Given the description of an element on the screen output the (x, y) to click on. 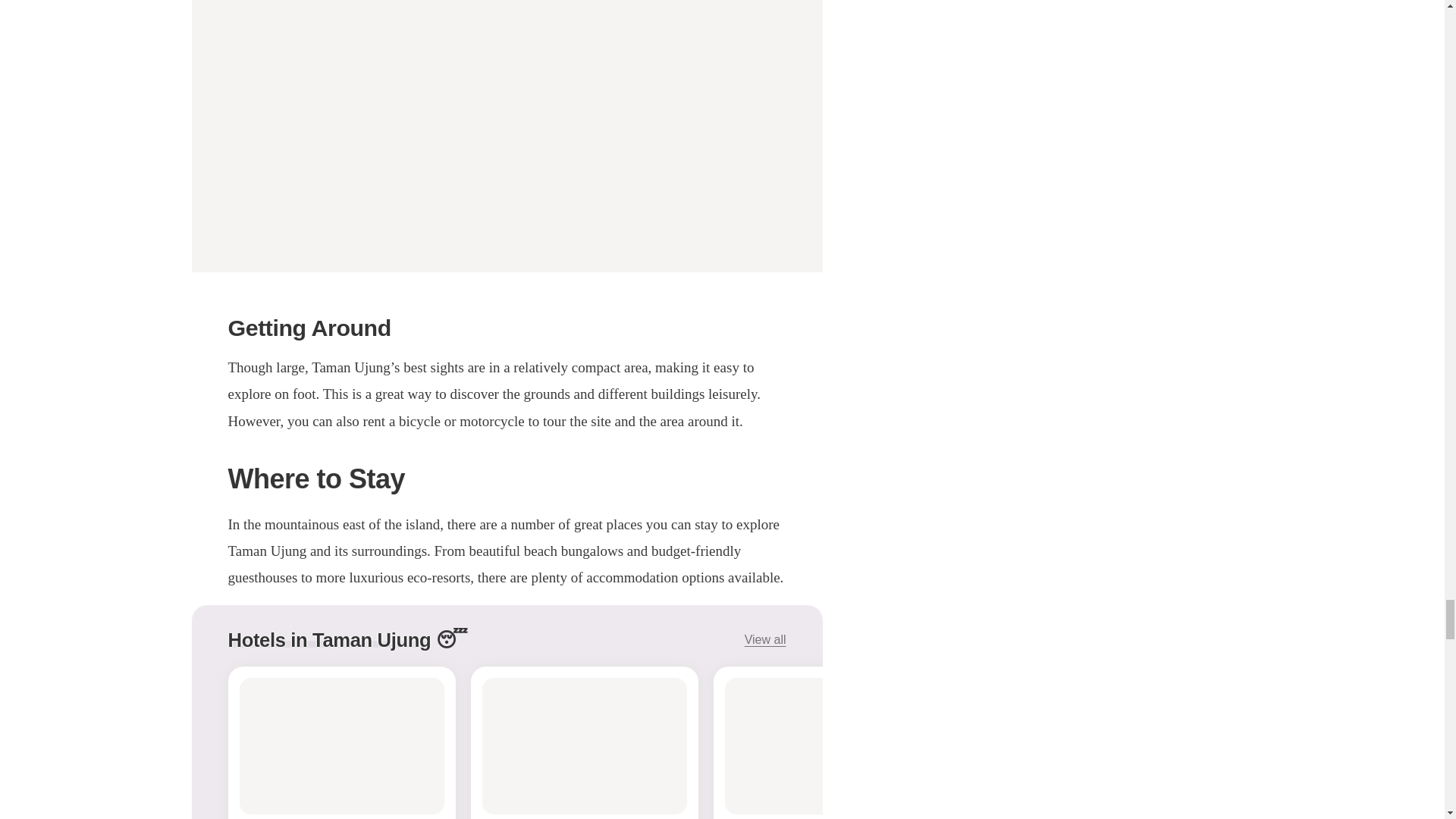
Hotels in Taman Ujung (328, 639)
